Given the description of an element on the screen output the (x, y) to click on. 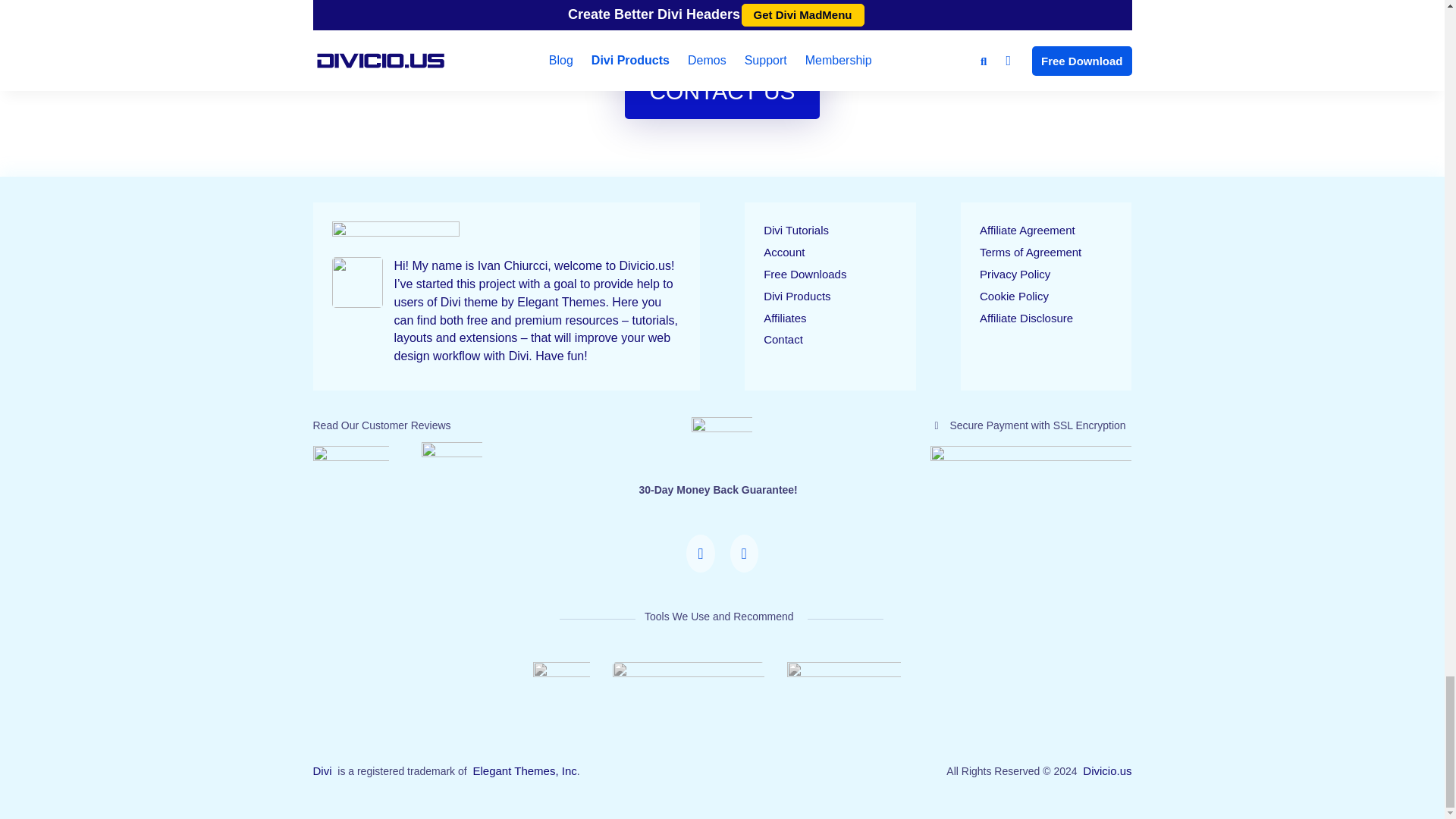
30-days-money-back-guarantee-badge (721, 446)
Contact Us (699, 568)
trustpilot-logo-with-stars (350, 463)
elegant-themes-logo-with-stars (451, 462)
payment-icons-450x56 (1030, 457)
 Join Us On Facebook (743, 568)
logo-edd-dark-450x73 (688, 673)
divi-logo-white- (560, 674)
